Given the description of an element on the screen output the (x, y) to click on. 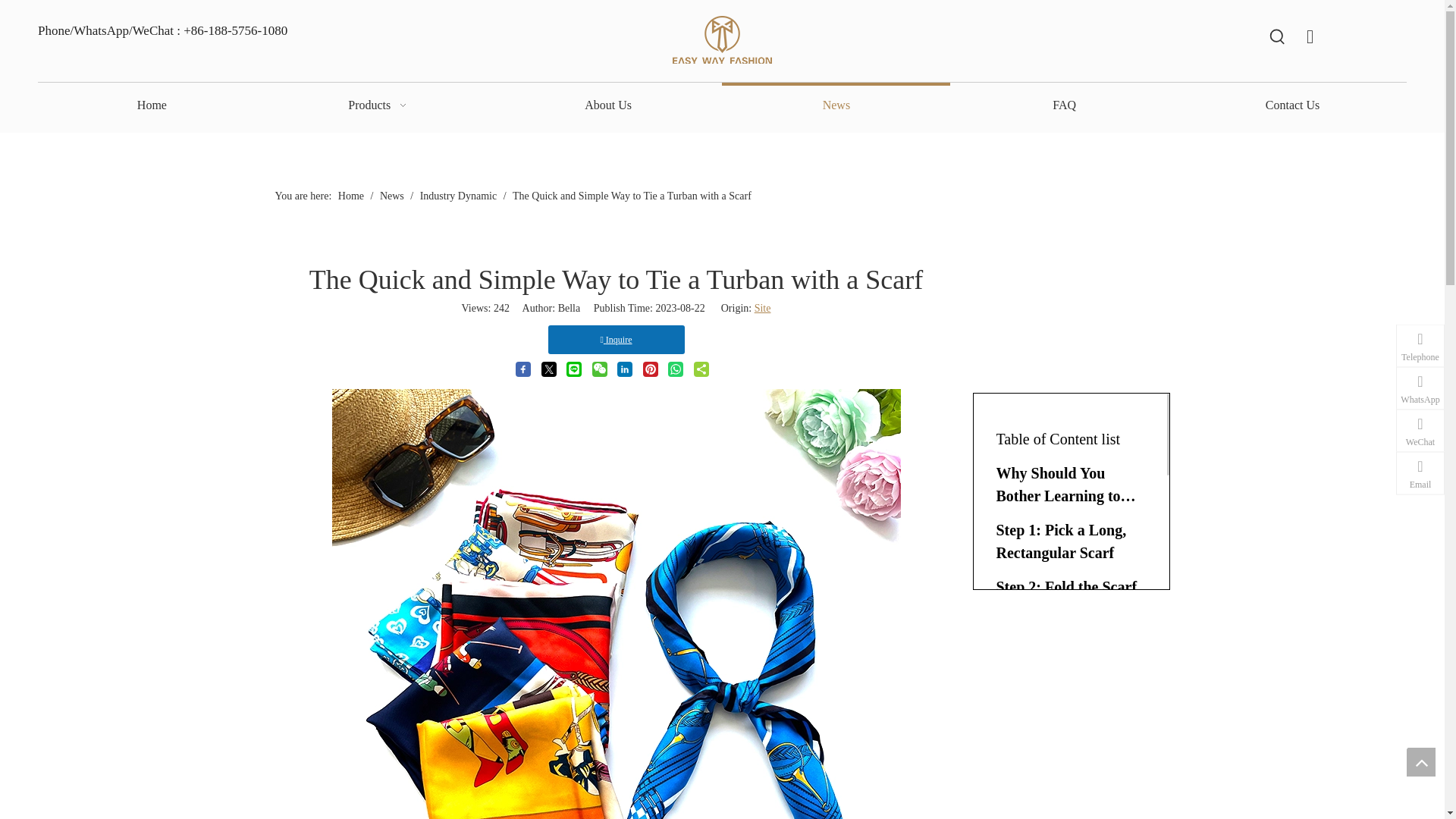
WechatIMG240 (722, 40)
Inquire (615, 339)
Home (351, 195)
Contact Us (1291, 104)
Industry Dynamic (459, 195)
About Us (608, 104)
Home (151, 104)
News (836, 104)
News (393, 195)
Products   (380, 104)
FAQ (1063, 104)
Site (762, 307)
